Given the description of an element on the screen output the (x, y) to click on. 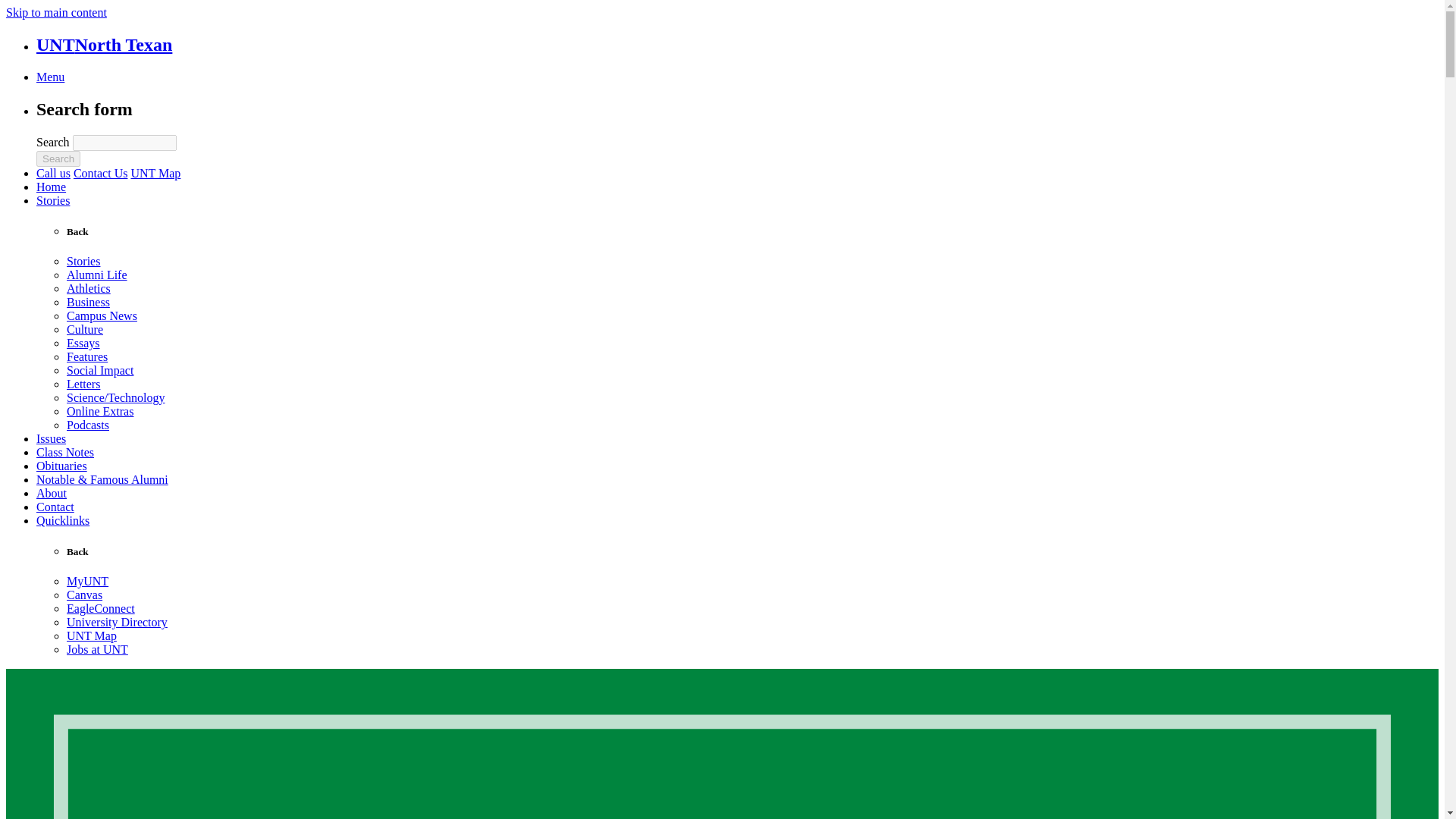
Issues (50, 438)
Podcasts (87, 424)
Letters (83, 383)
About (51, 492)
University Directory (116, 621)
Quicklinks (62, 520)
EagleConnect (100, 608)
Alumni Life (97, 274)
Culture (84, 328)
Athletics (88, 287)
Back (77, 231)
Stories (52, 200)
Class Notes (65, 451)
UNT Map (155, 173)
Essays (83, 342)
